Given the description of an element on the screen output the (x, y) to click on. 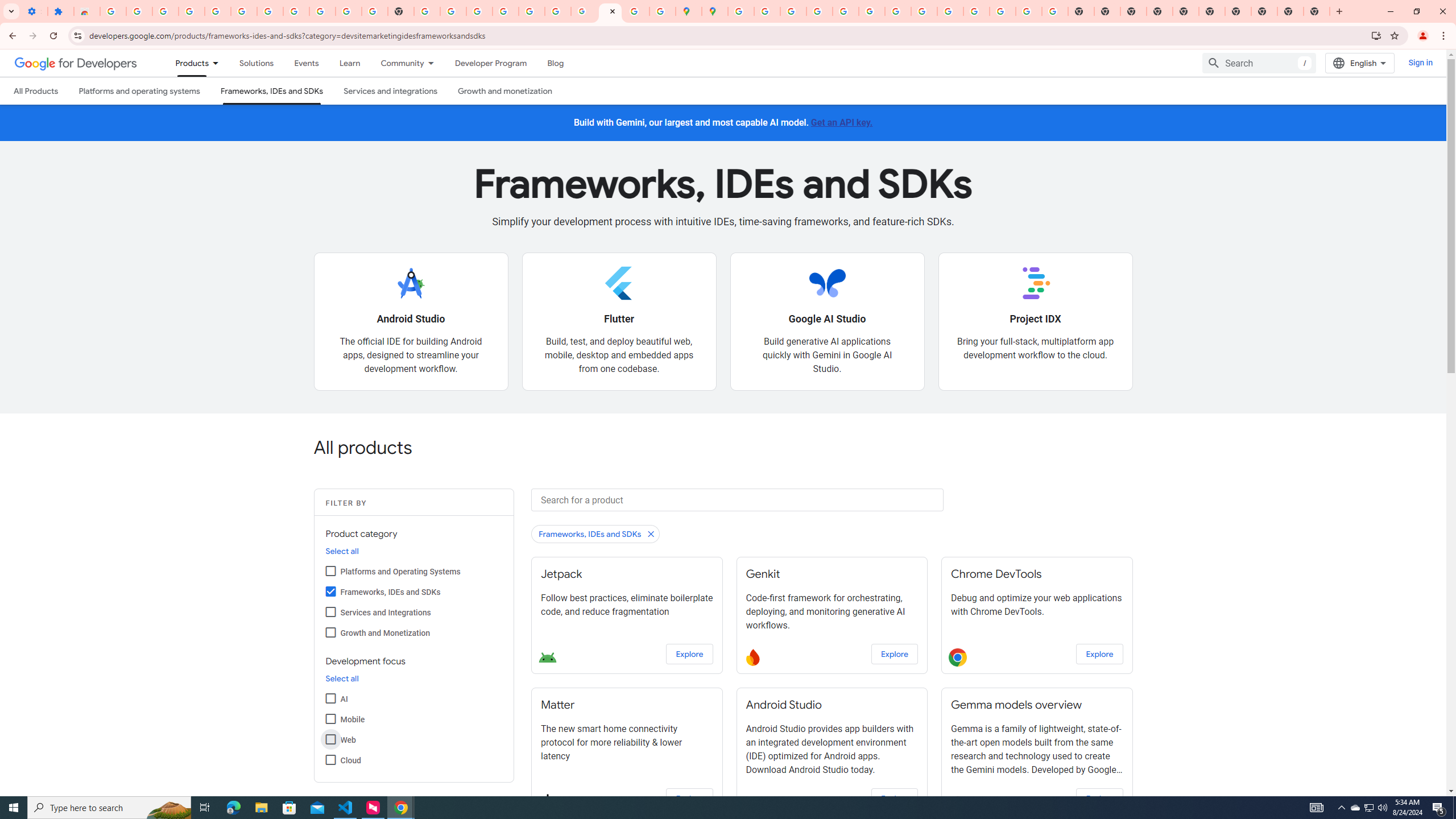
Google Images (1054, 11)
Community (396, 62)
Remove Frameworks, IDEs and SDKs filter (596, 533)
Search for a product (737, 499)
Select all (342, 678)
Settings - On startup (34, 11)
Privacy Help Center - Policies Help (818, 11)
YouTube (348, 11)
Google AI Studio logo (826, 282)
Services and integrations (390, 90)
AI (330, 697)
Mobile (330, 718)
